Given the description of an element on the screen output the (x, y) to click on. 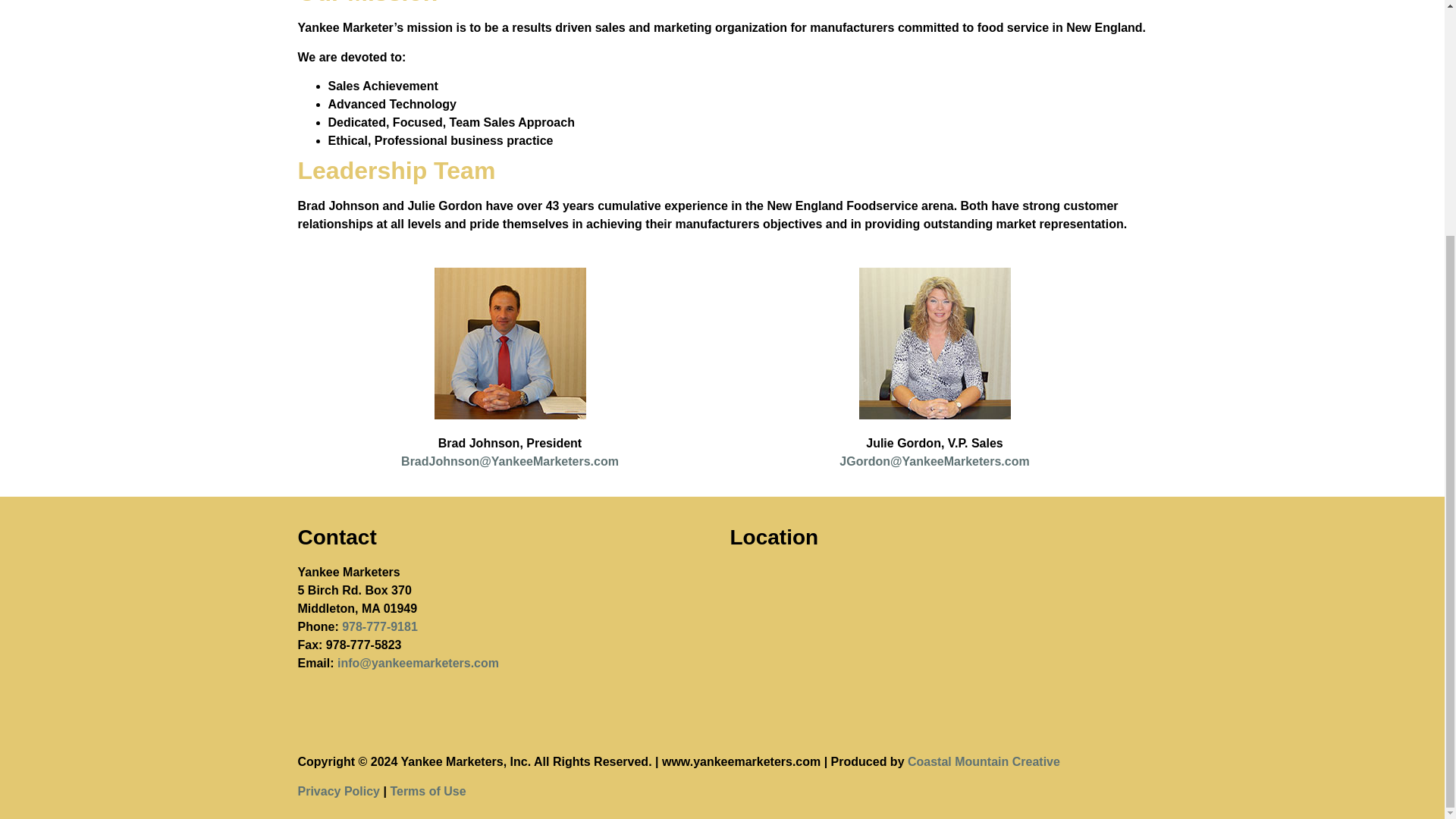
978-777-9181 (379, 626)
Coastal Mountain Creative (983, 761)
Terms of Use (427, 790)
Privacy Policy (338, 790)
Yankee Marketers 5 Birch Rd. Box 370 Middleton, MA 01949 (938, 638)
